Given the description of an element on the screen output the (x, y) to click on. 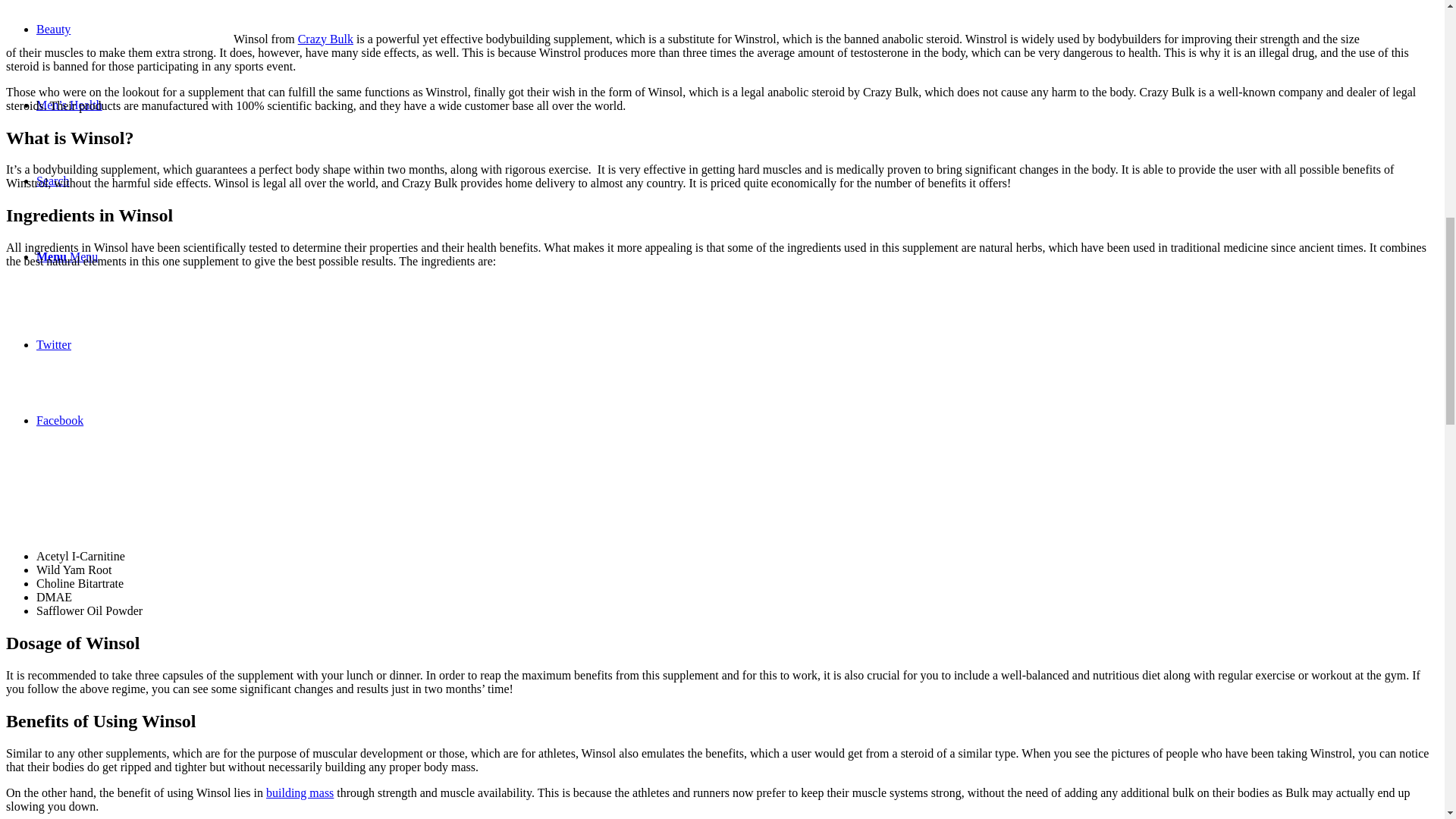
Facebook (59, 420)
Search (52, 180)
Menu Menu (66, 256)
building mass (299, 792)
Facebook (59, 420)
Twitter (53, 344)
Beauty (52, 29)
Crazy Bulk (325, 38)
Twitter (53, 344)
